Given the description of an element on the screen output the (x, y) to click on. 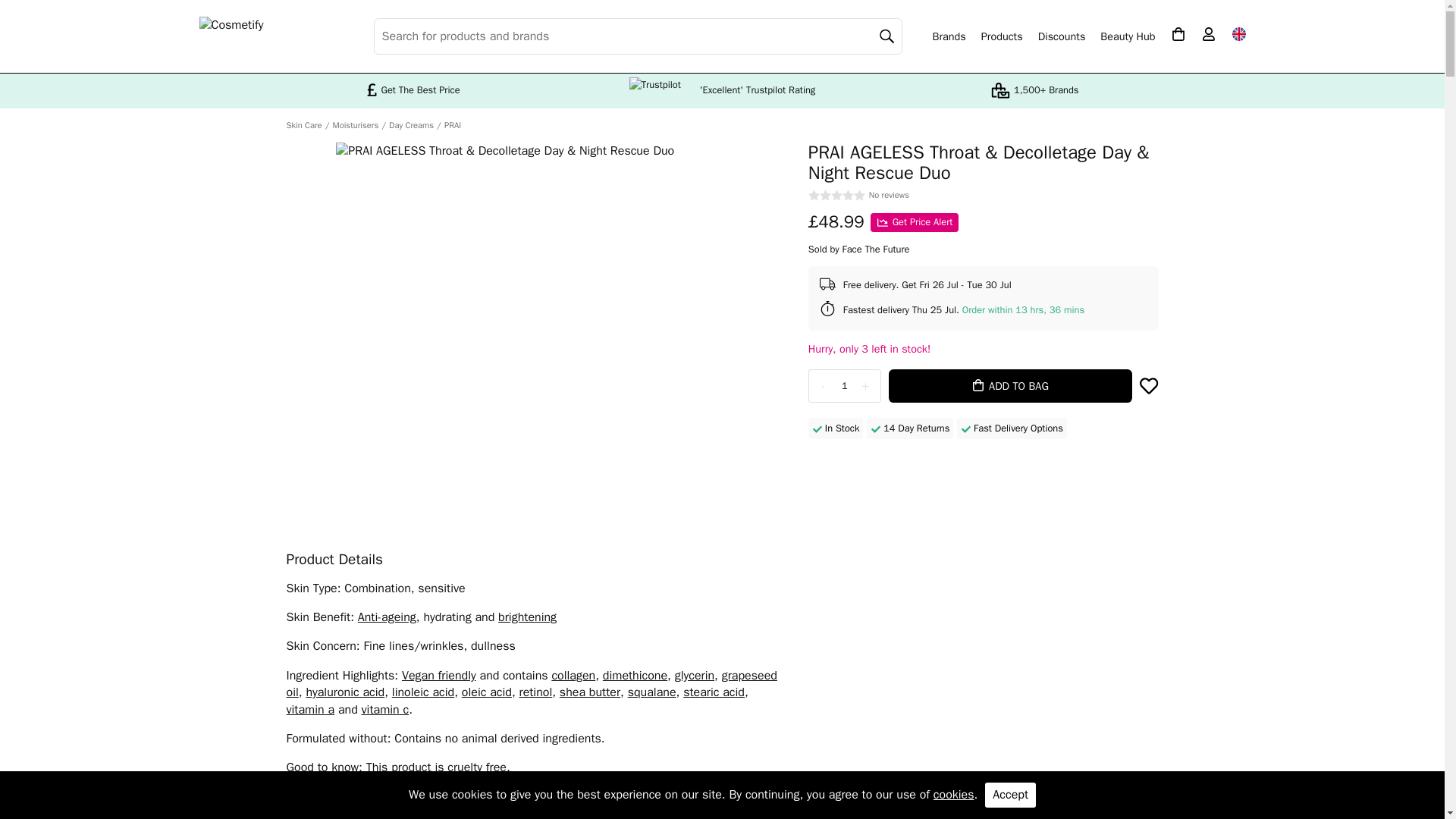
Accept (1010, 794)
cookies (953, 794)
Discounts (1062, 36)
Brands (949, 36)
Products (1002, 36)
Beauty Hub (1127, 36)
